Given the description of an element on the screen output the (x, y) to click on. 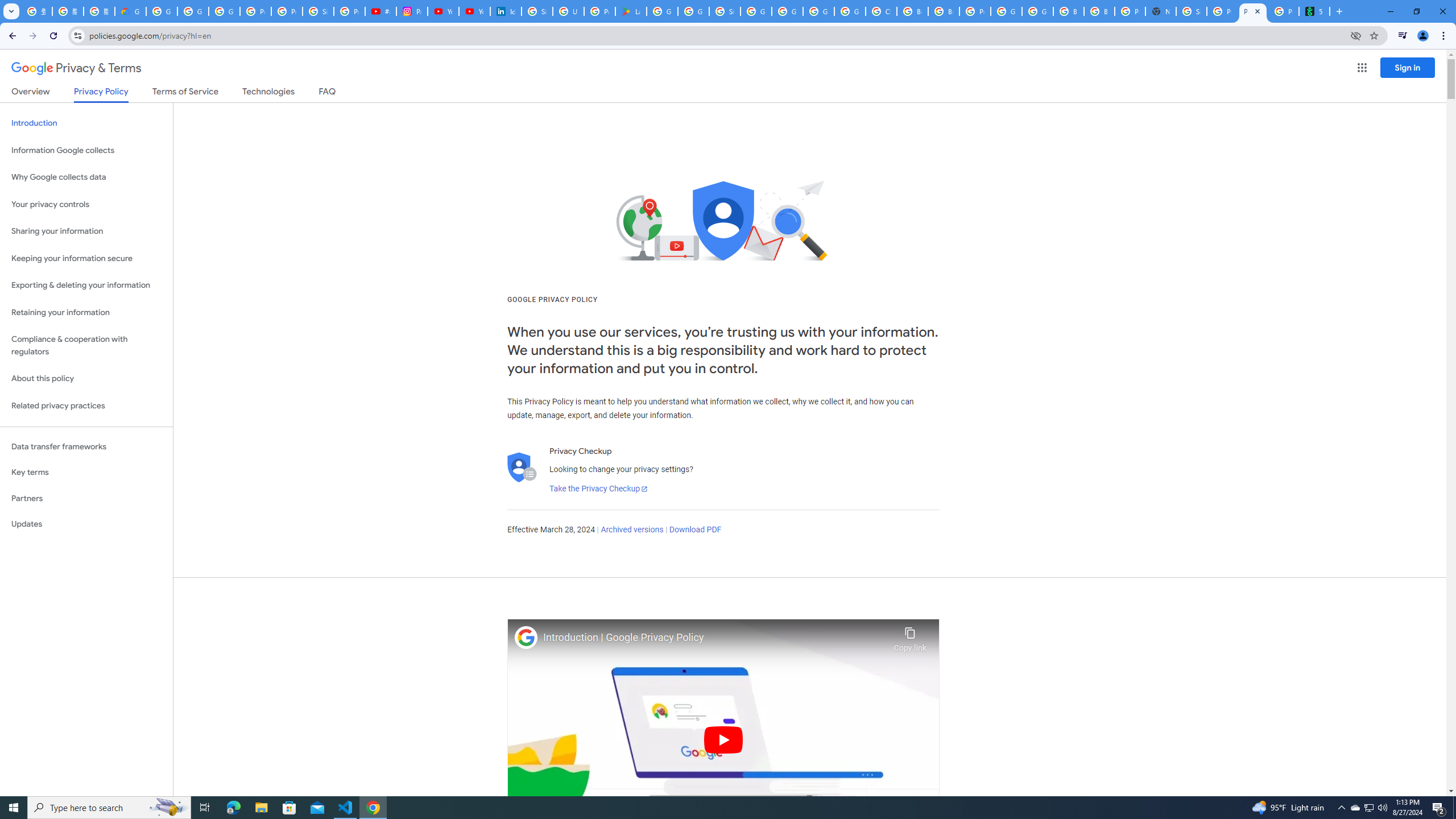
Play (723, 739)
YouTube Culture & Trends - On The Rise: Handcam Videos (443, 11)
Google Cloud Platform (1037, 11)
Sign in - Google Accounts (318, 11)
